Given the description of an element on the screen output the (x, y) to click on. 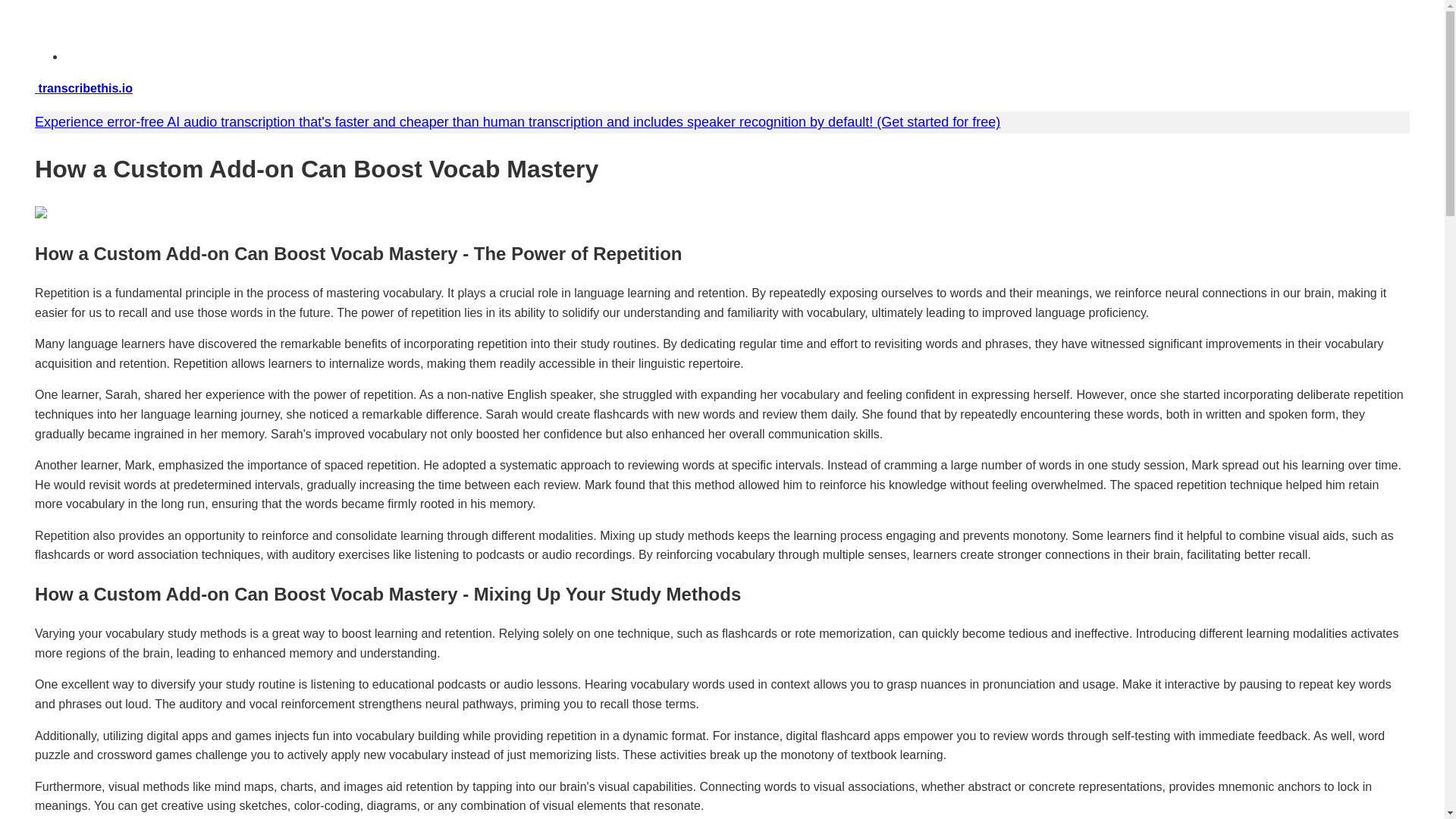
transcribethis.io (83, 88)
